Given the description of an element on the screen output the (x, y) to click on. 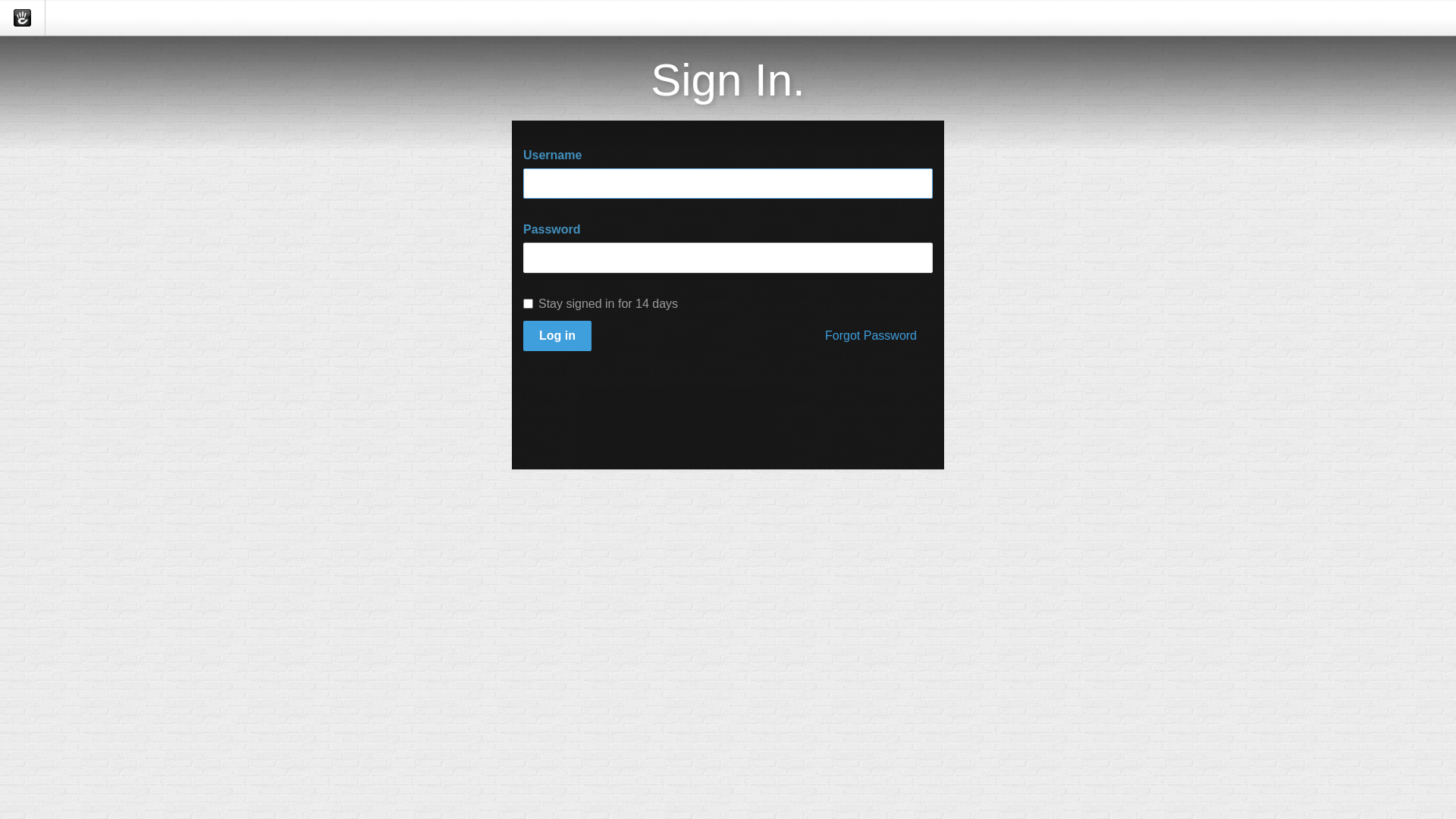
Forgot Password Element type: text (870, 335)
concrete5 Element type: hover (22, 17)
Log in Element type: text (557, 335)
